Given the description of an element on the screen output the (x, y) to click on. 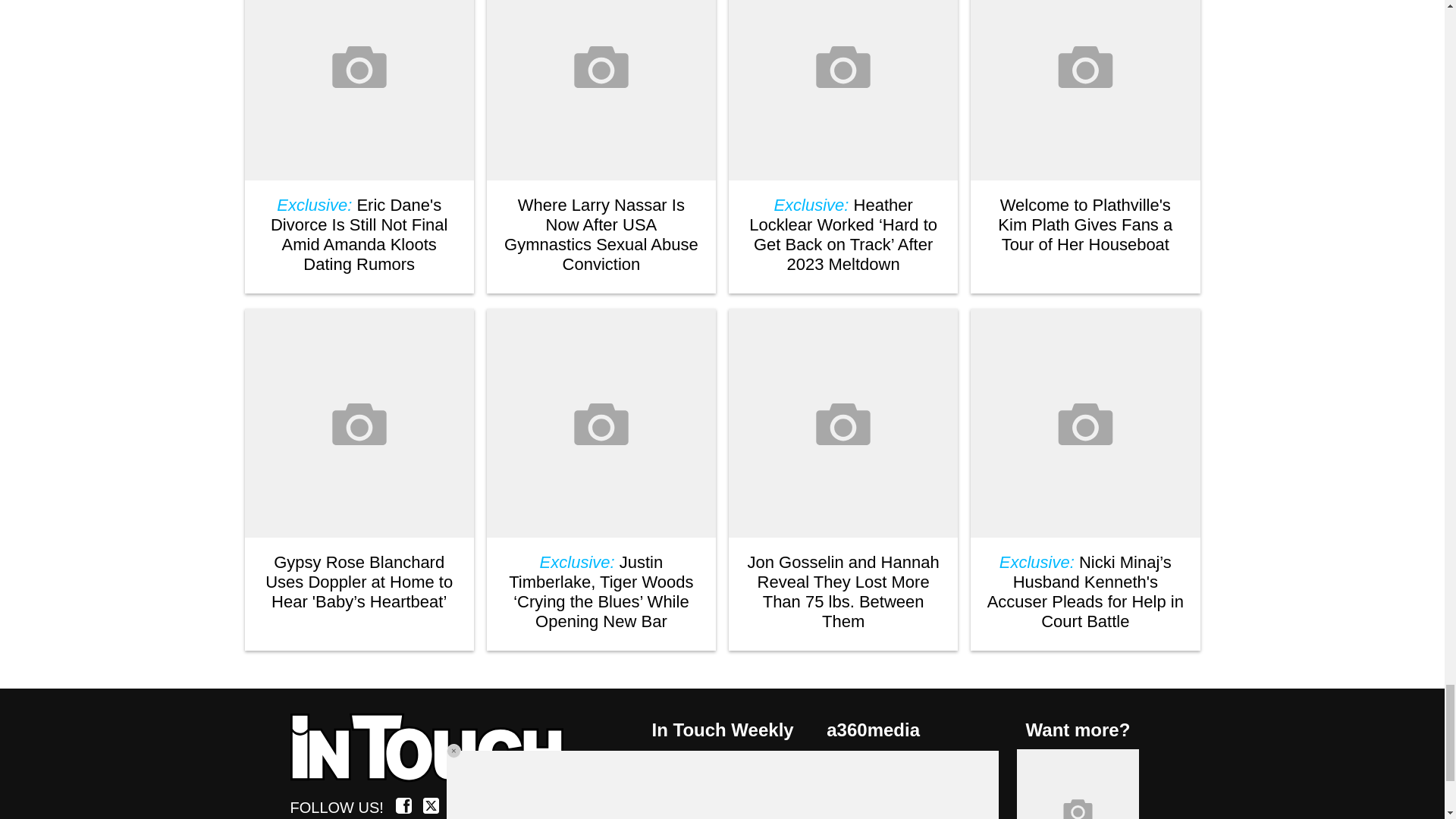
Home (434, 748)
